Given the description of an element on the screen output the (x, y) to click on. 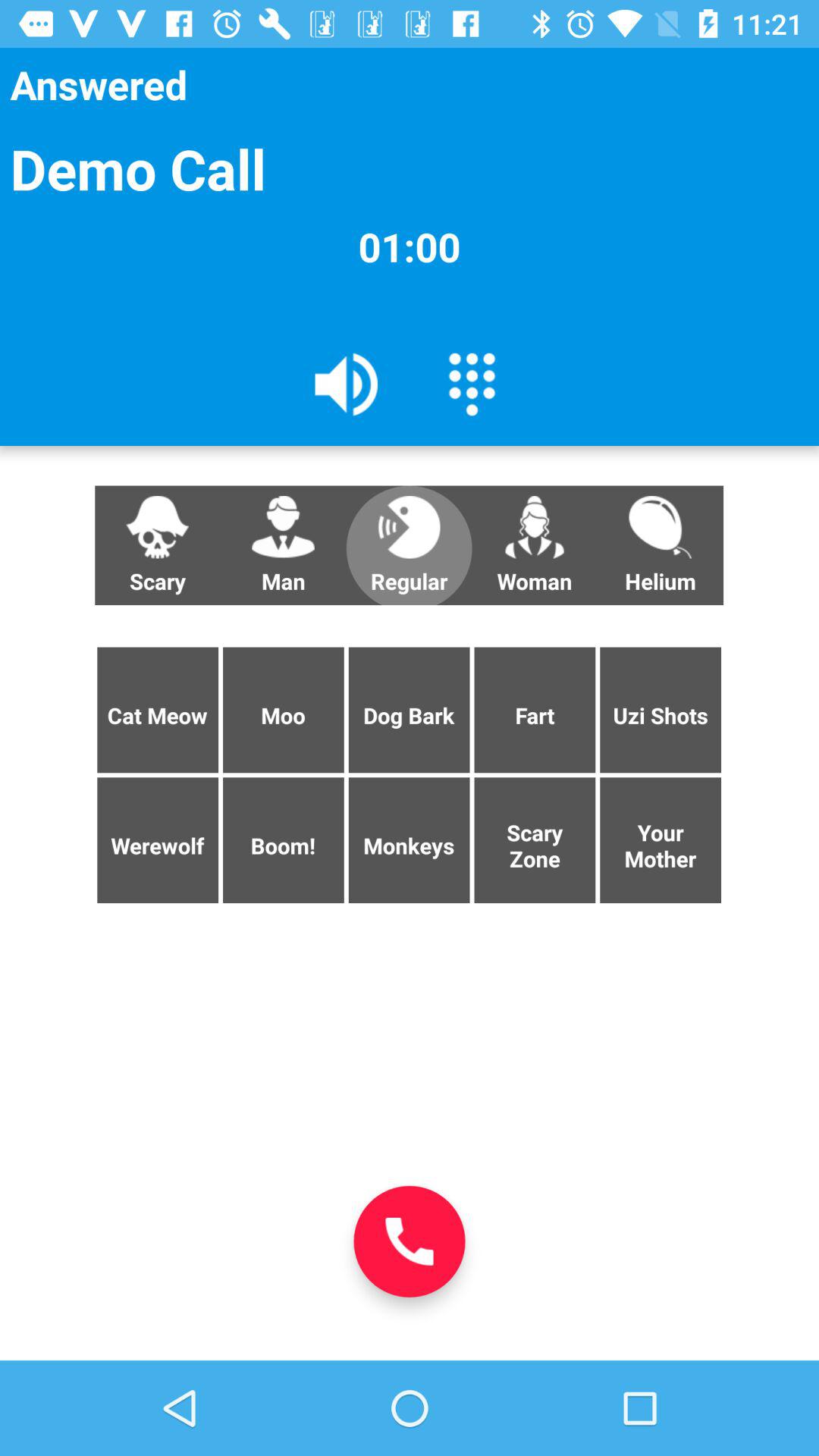
open icon below the 01:00 icon (660, 545)
